Given the description of an element on the screen output the (x, y) to click on. 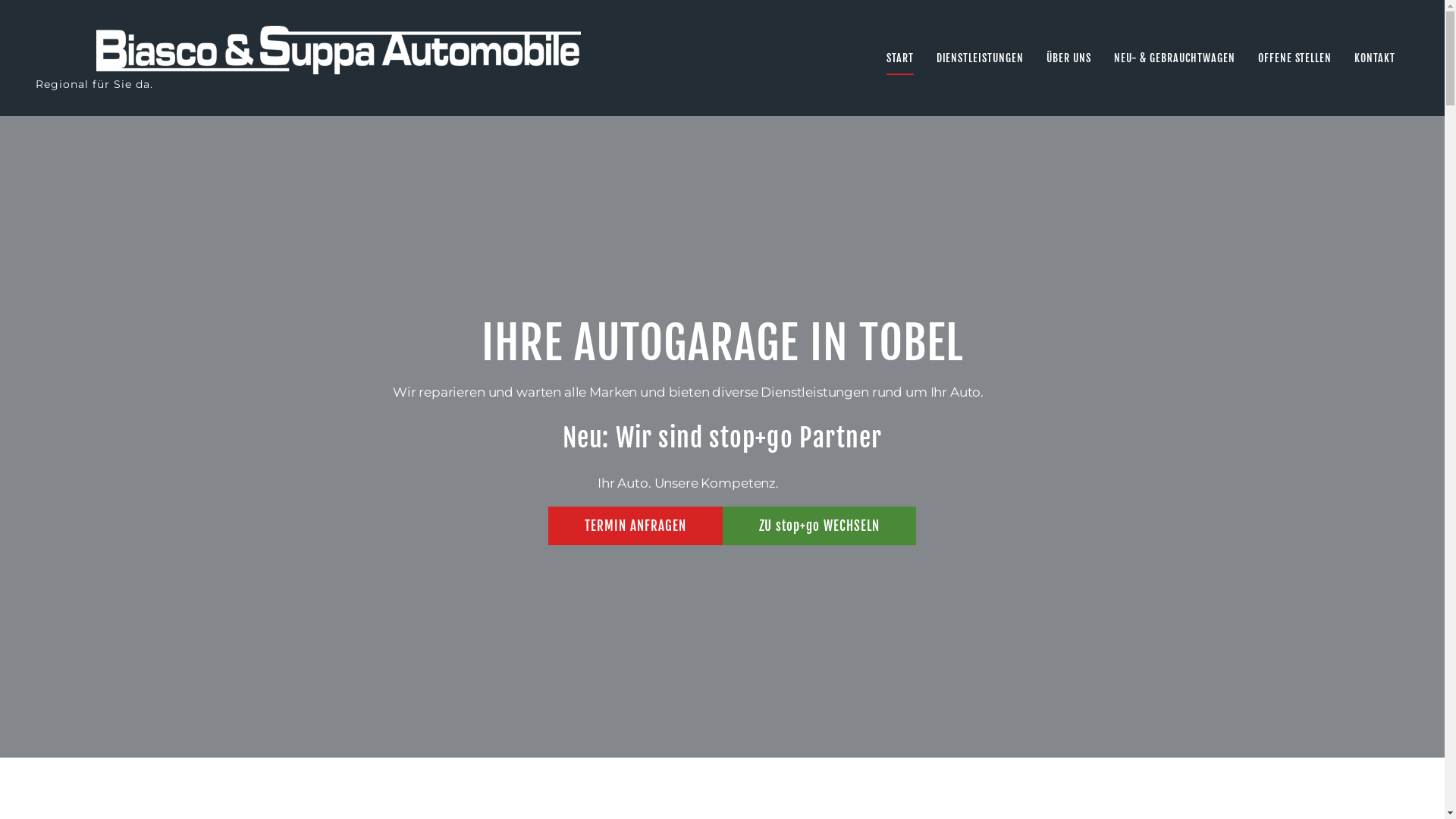
NEU- & GEBRAUCHTWAGEN Element type: text (1174, 58)
KONTAKT Element type: text (1374, 58)
TERMIN ANFRAGEN Element type: text (634, 525)
OFFENE STELLEN Element type: text (1294, 58)
ZU stop+go WECHSELN Element type: text (818, 525)
START Element type: text (899, 58)
DIENSTLEISTUNGEN Element type: text (979, 58)
